Given the description of an element on the screen output the (x, y) to click on. 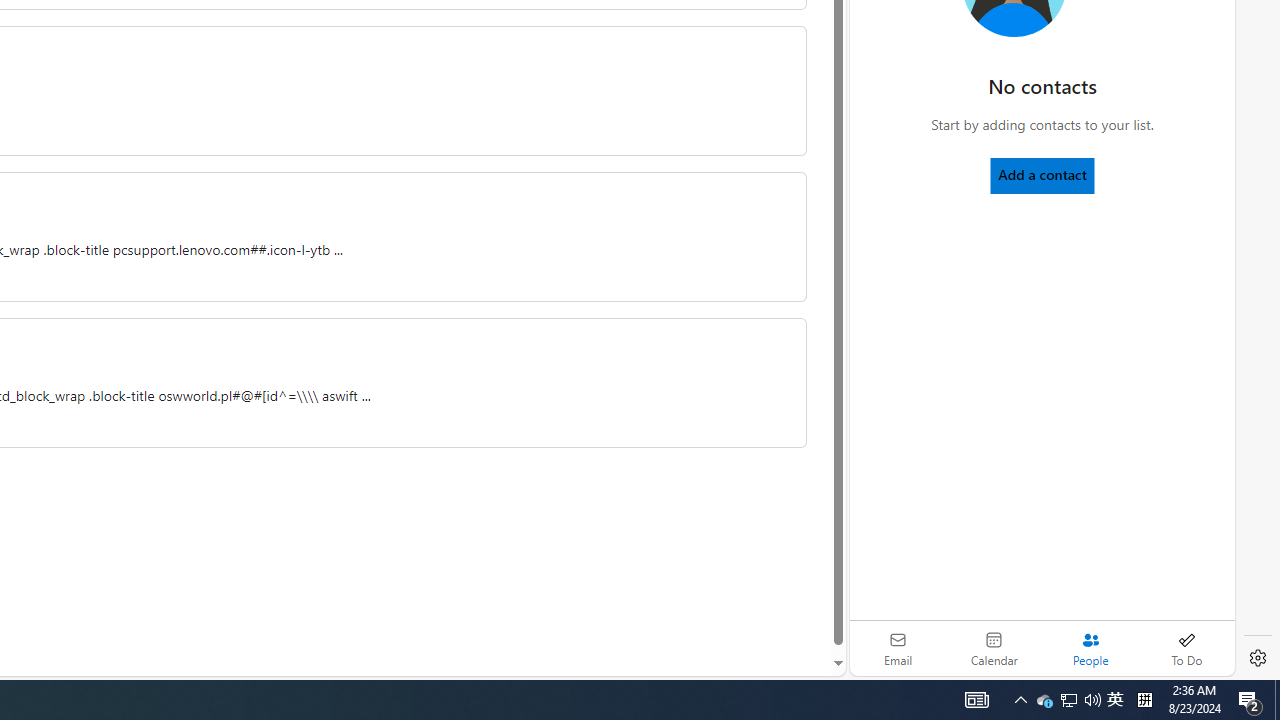
Add a contact (1041, 174)
Selected people module (1090, 648)
Email (898, 648)
Calendar. Date today is 22 (994, 648)
To Do (1186, 648)
